Given the description of an element on the screen output the (x, y) to click on. 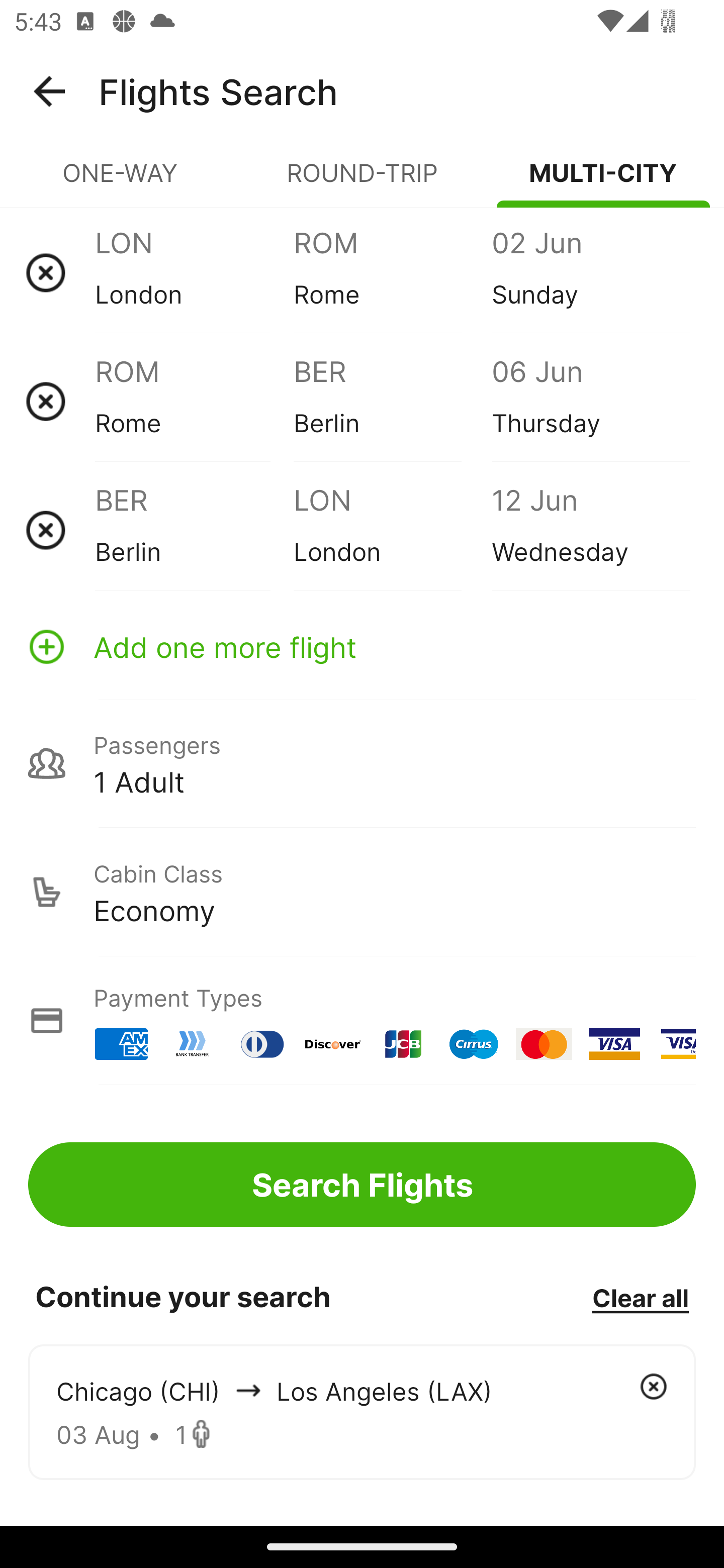
ONE-WAY (120, 180)
ROUND-TRIP (361, 180)
MULTI-CITY (603, 180)
LON London (193, 272)
ROM Rome (392, 272)
02 Jun Sunday (590, 272)
ROM Rome (193, 401)
BER Berlin (392, 401)
06 Jun Thursday (590, 401)
BER Berlin (193, 529)
LON London (392, 529)
12 Jun Wednesday (590, 529)
Add one more flight (362, 646)
Passengers 1 Adult (362, 762)
Cabin Class Economy (362, 891)
Payment Types (362, 1020)
Search Flights (361, 1184)
Clear all (640, 1297)
